Given the description of an element on the screen output the (x, y) to click on. 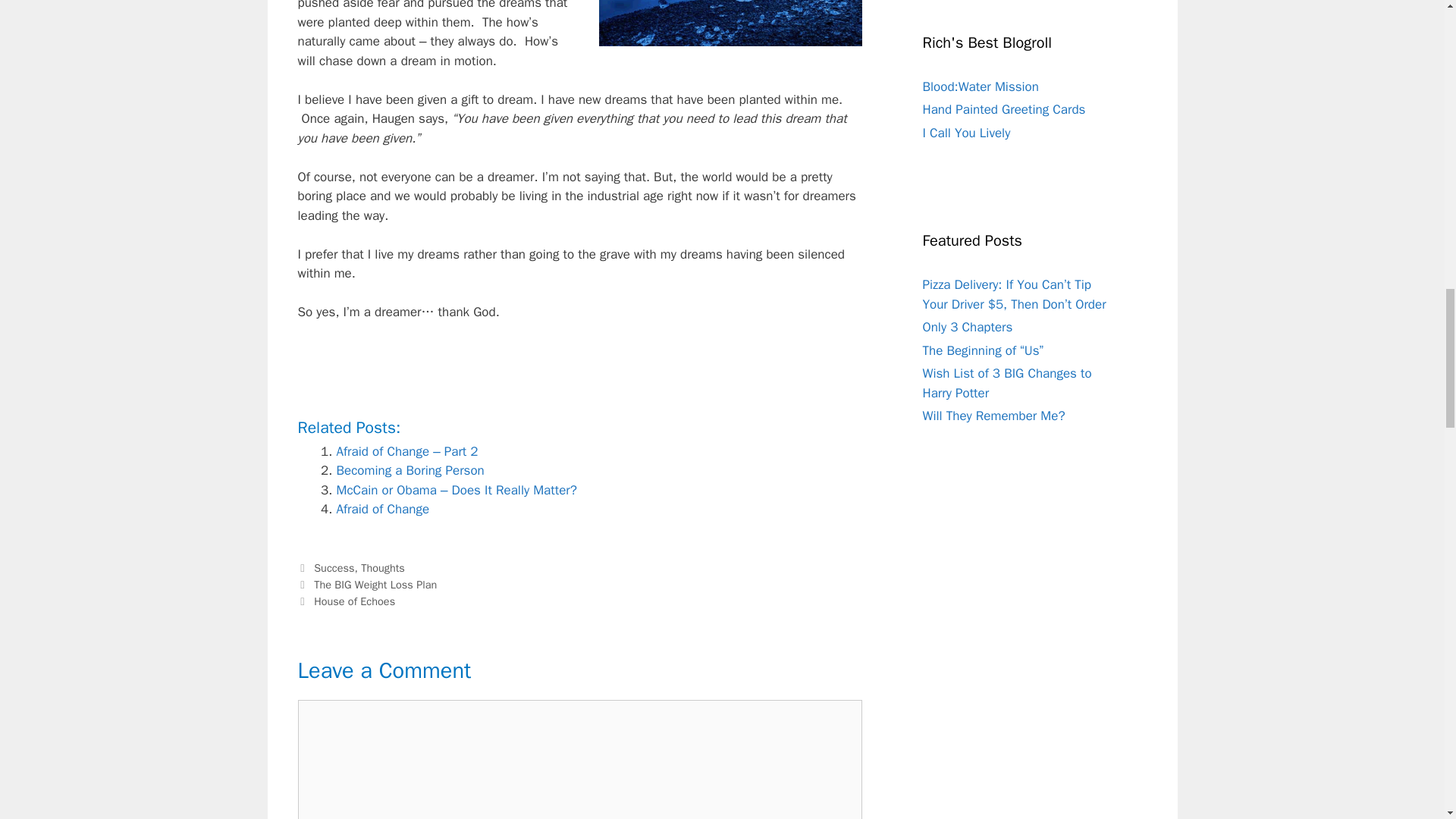
Thoughts (382, 567)
Hand Painted Greeting Cards (1002, 109)
House of Echoes (354, 601)
Success (333, 567)
Becoming a Boring Person (410, 470)
Afraid of Change (382, 508)
Blood:Water Mission (979, 86)
I Call You Lively (965, 132)
Afraid of Change (382, 508)
Only 3 Chapters (966, 326)
The BIG Weight Loss Plan (375, 584)
Becoming a Boring Person (410, 470)
